Given the description of an element on the screen output the (x, y) to click on. 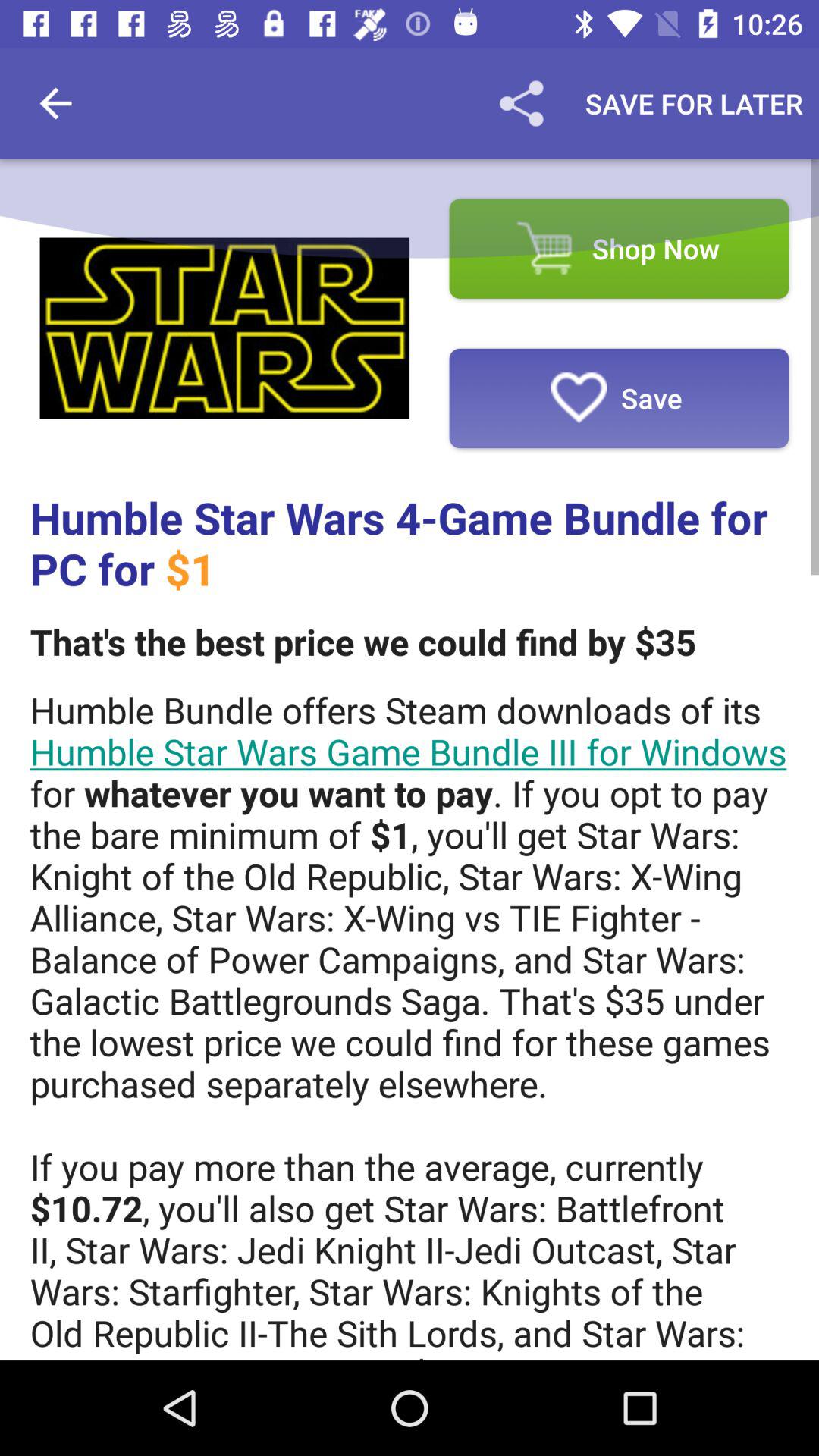
turn off the icon next to shop now icon (224, 328)
